Given the description of an element on the screen output the (x, y) to click on. 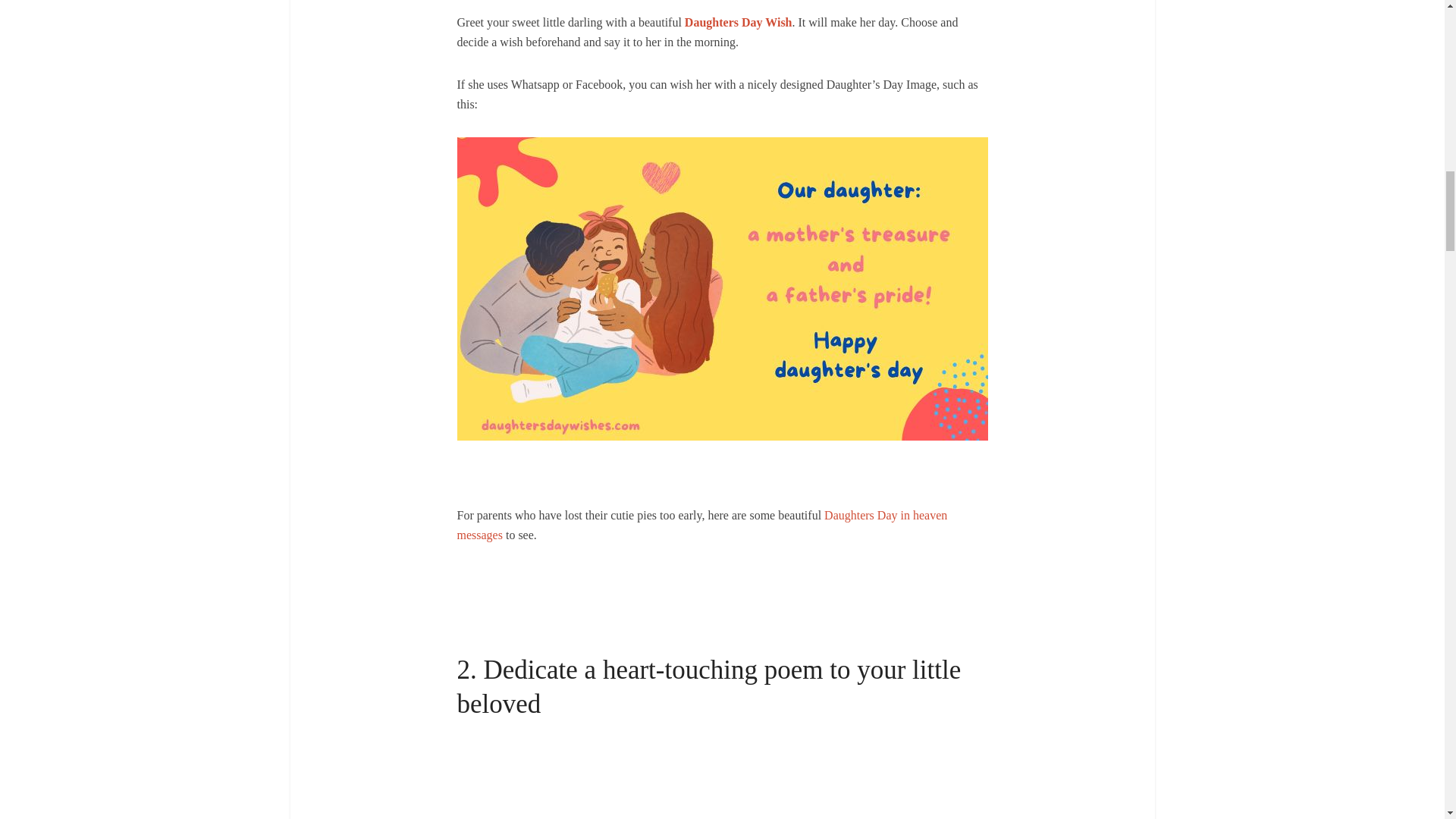
Daughters Day Wish (738, 21)
Daughters Day in heaven messages (702, 524)
